Given the description of an element on the screen output the (x, y) to click on. 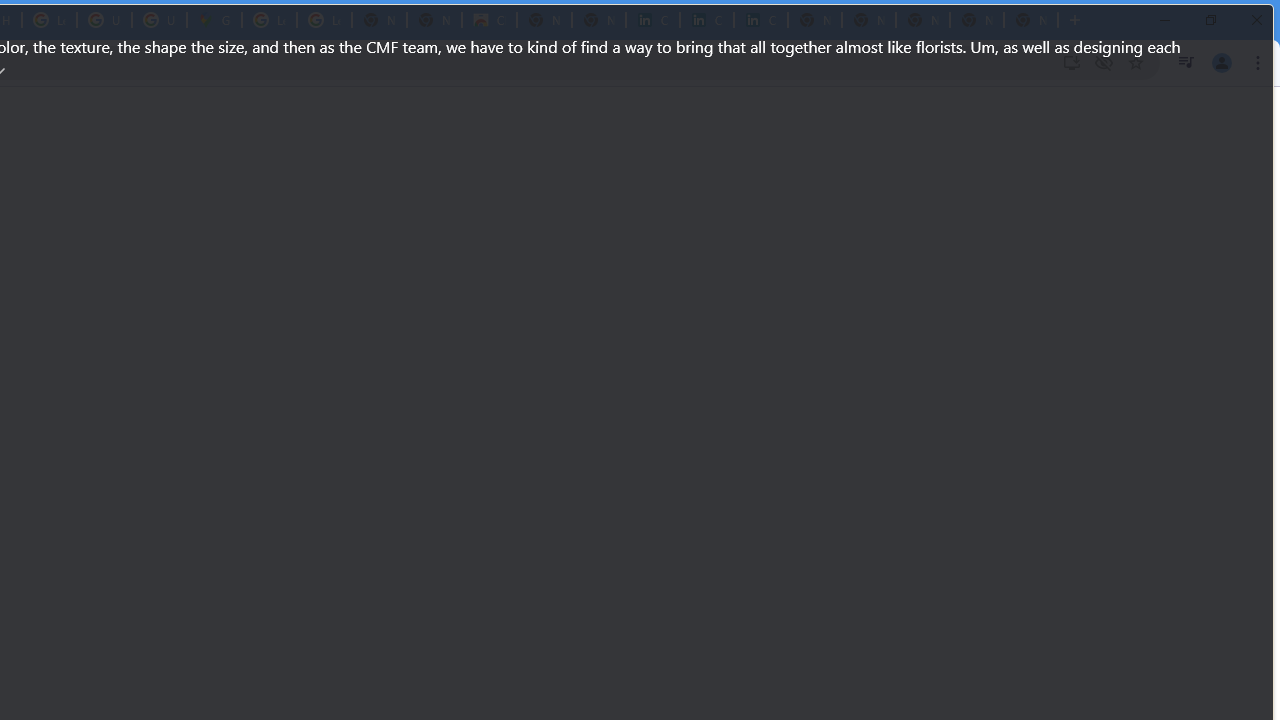
Chrome Web Store (489, 20)
Google Maps (213, 20)
Cookie Policy | LinkedIn (706, 20)
Install YouTube (1071, 62)
New Tab (1030, 20)
